Given the description of an element on the screen output the (x, y) to click on. 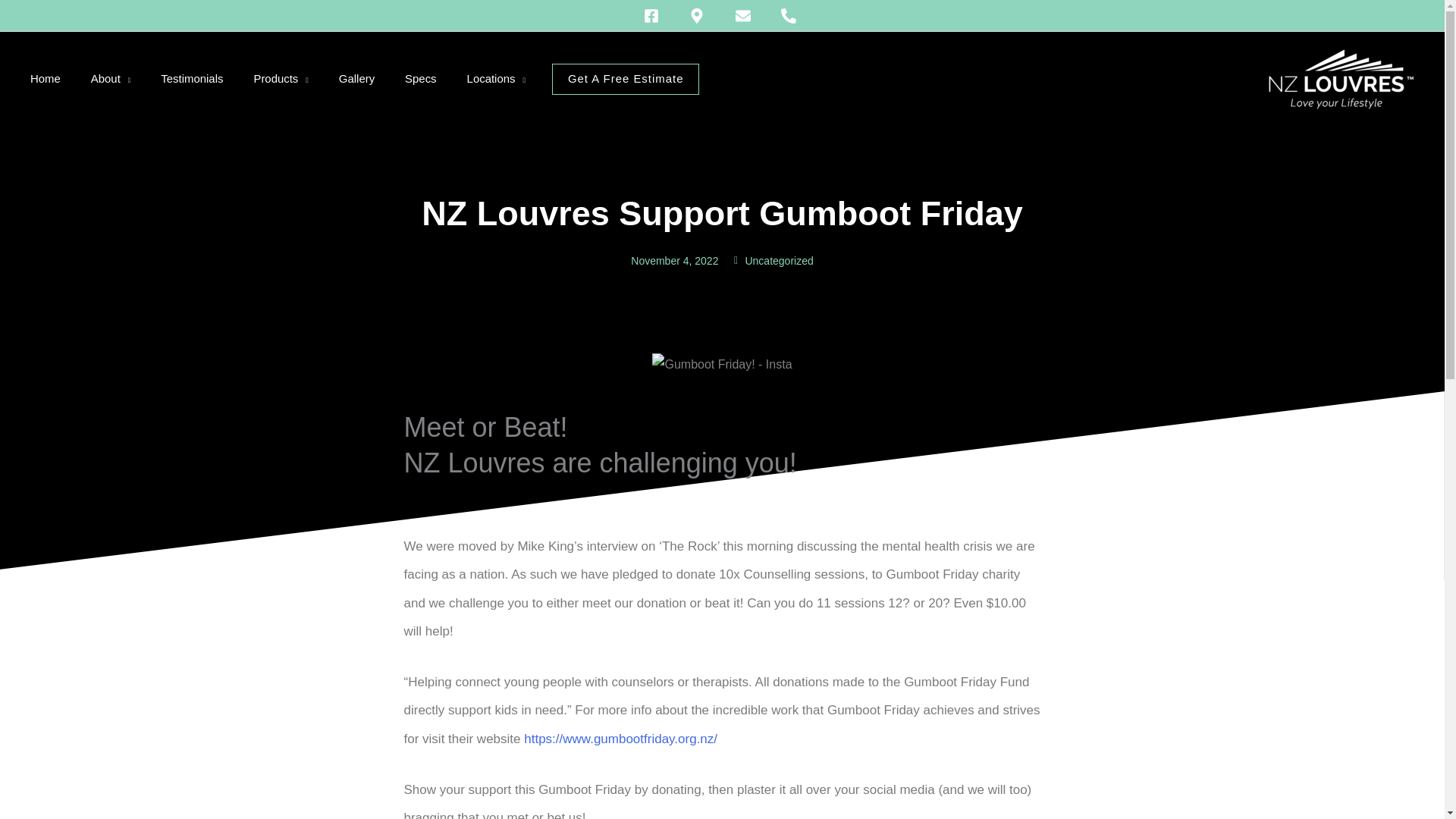
Locations (495, 78)
Products (280, 78)
Testimonials (191, 78)
Get A Free Estimate (625, 79)
